Given the description of an element on the screen output the (x, y) to click on. 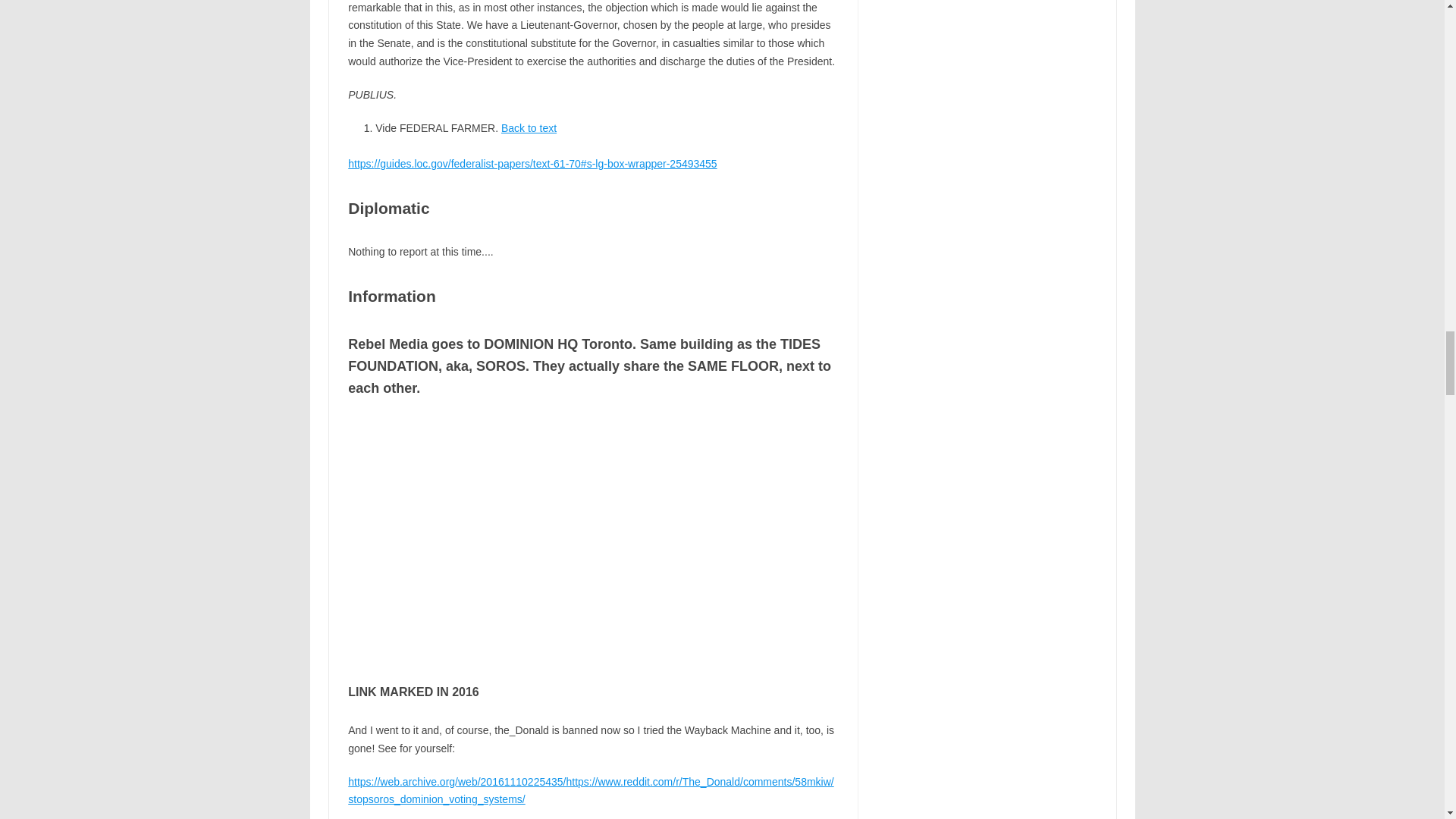
Back to text (528, 128)
